Given the description of an element on the screen output the (x, y) to click on. 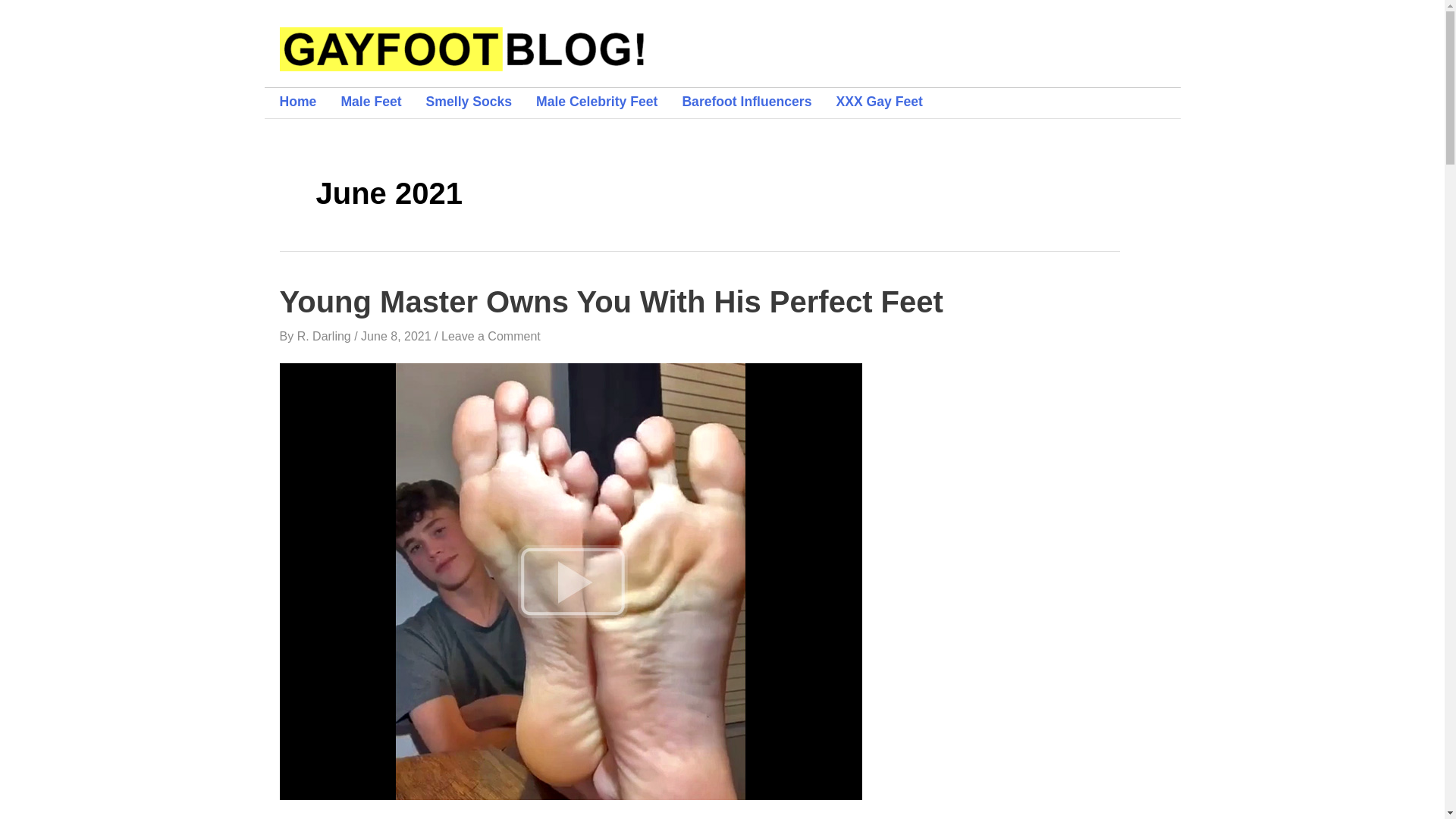
R. Darling (326, 336)
Male Feet (382, 102)
Young Master Owns You With His Perfect Feet (610, 301)
Male Celebrity Feet (608, 102)
Young Master Owns You With His Perfect Feet (570, 580)
XXX Gay Feet (890, 102)
Barefoot Influencers (758, 102)
Leave a Comment (490, 336)
View all posts by R. Darling (326, 336)
Home (309, 102)
Smelly Socks (480, 102)
